Given the description of an element on the screen output the (x, y) to click on. 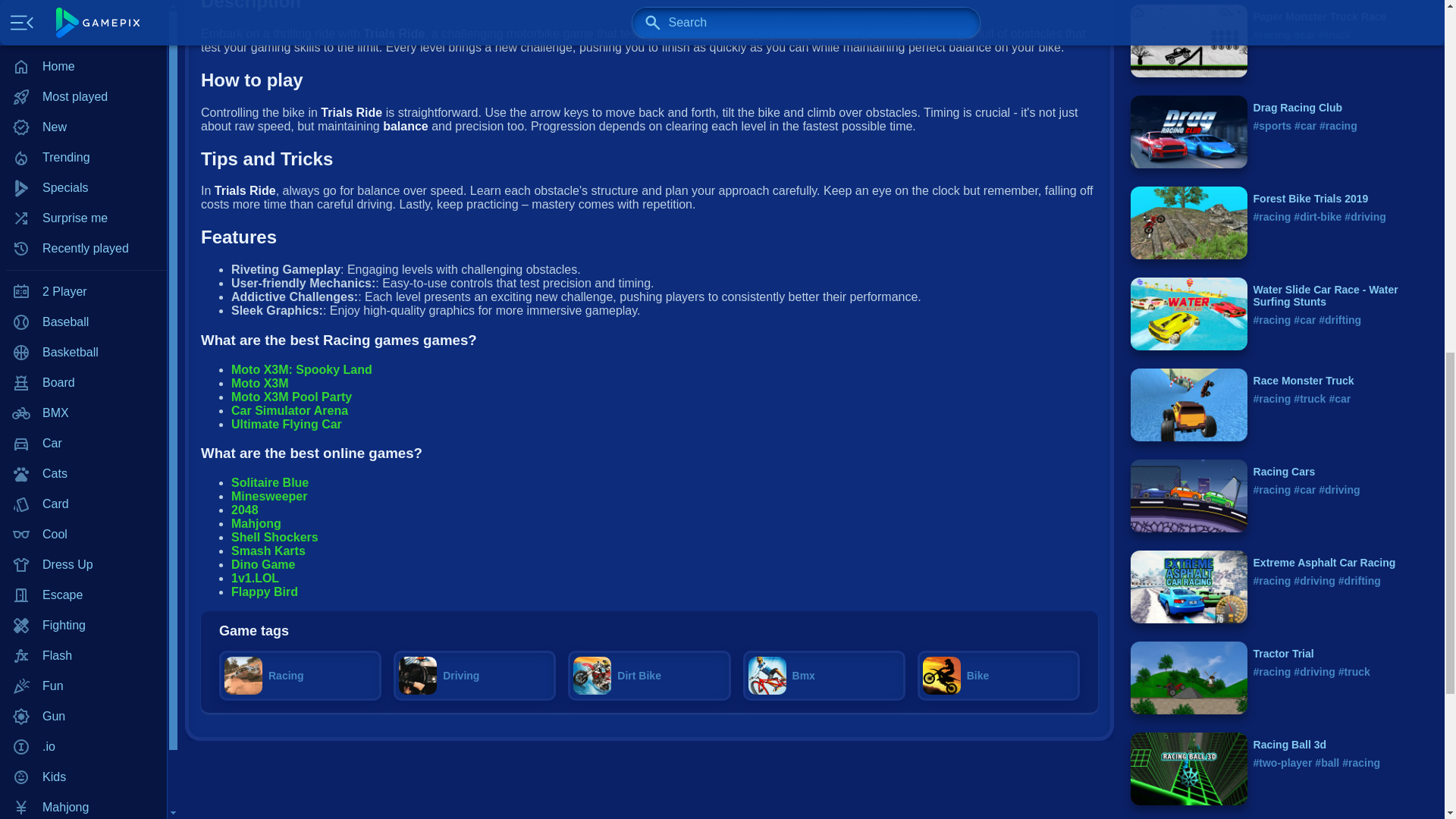
Snake (83, 261)
Math (83, 49)
Mahjong (83, 2)
Shooter (83, 200)
Solitaire (83, 231)
Word (83, 352)
Racing (83, 140)
Mario (83, 19)
Poker (83, 79)
War (83, 322)
